Given the description of an element on the screen output the (x, y) to click on. 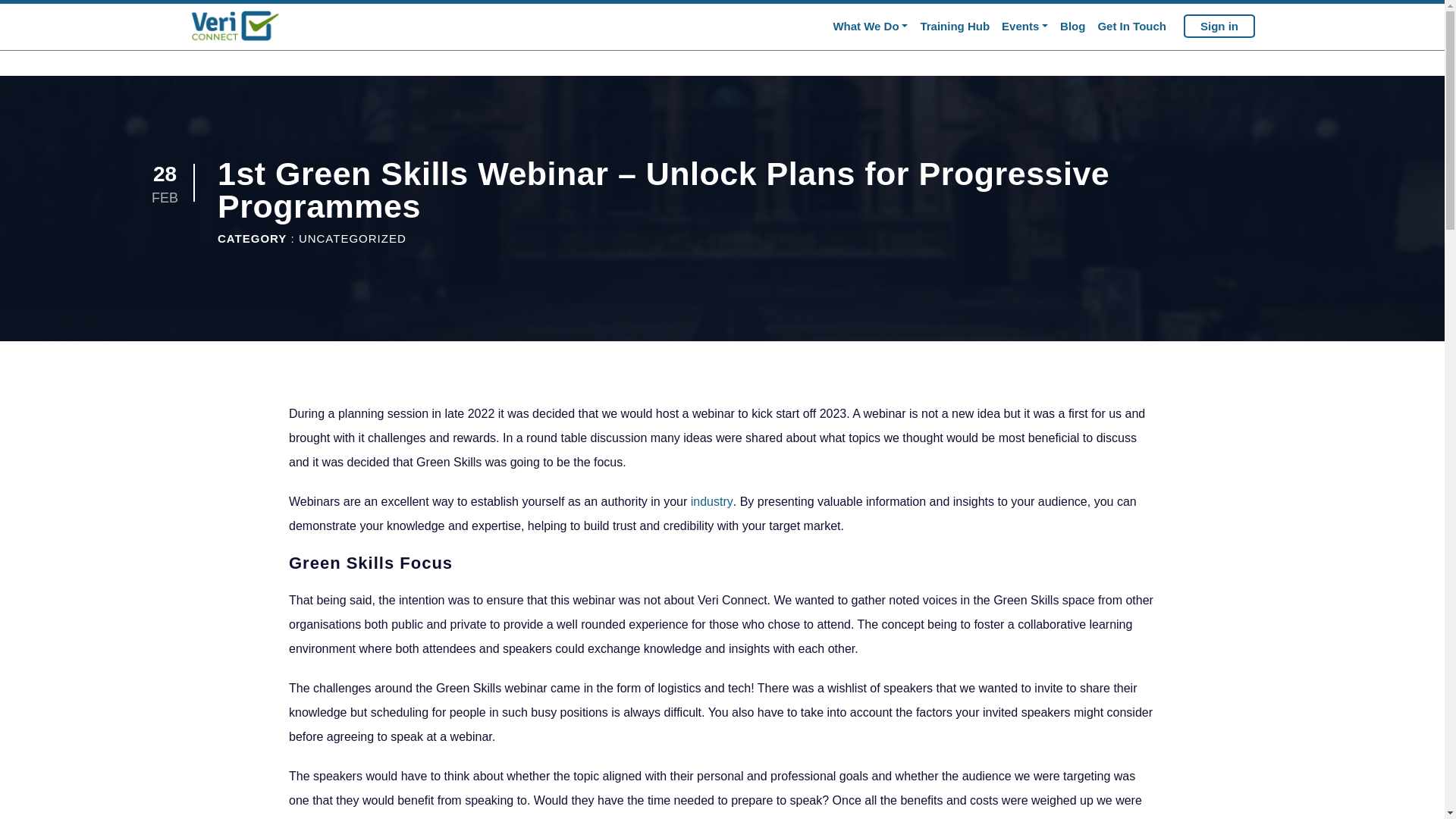
Blog (1072, 26)
Training Hub (954, 26)
Get In Touch (1131, 26)
industry (711, 501)
UNCATEGORIZED (352, 237)
Events (1024, 26)
What We Do (870, 26)
Blog (1072, 26)
Get In Touch (1131, 26)
Training Hub (954, 26)
